Given the description of an element on the screen output the (x, y) to click on. 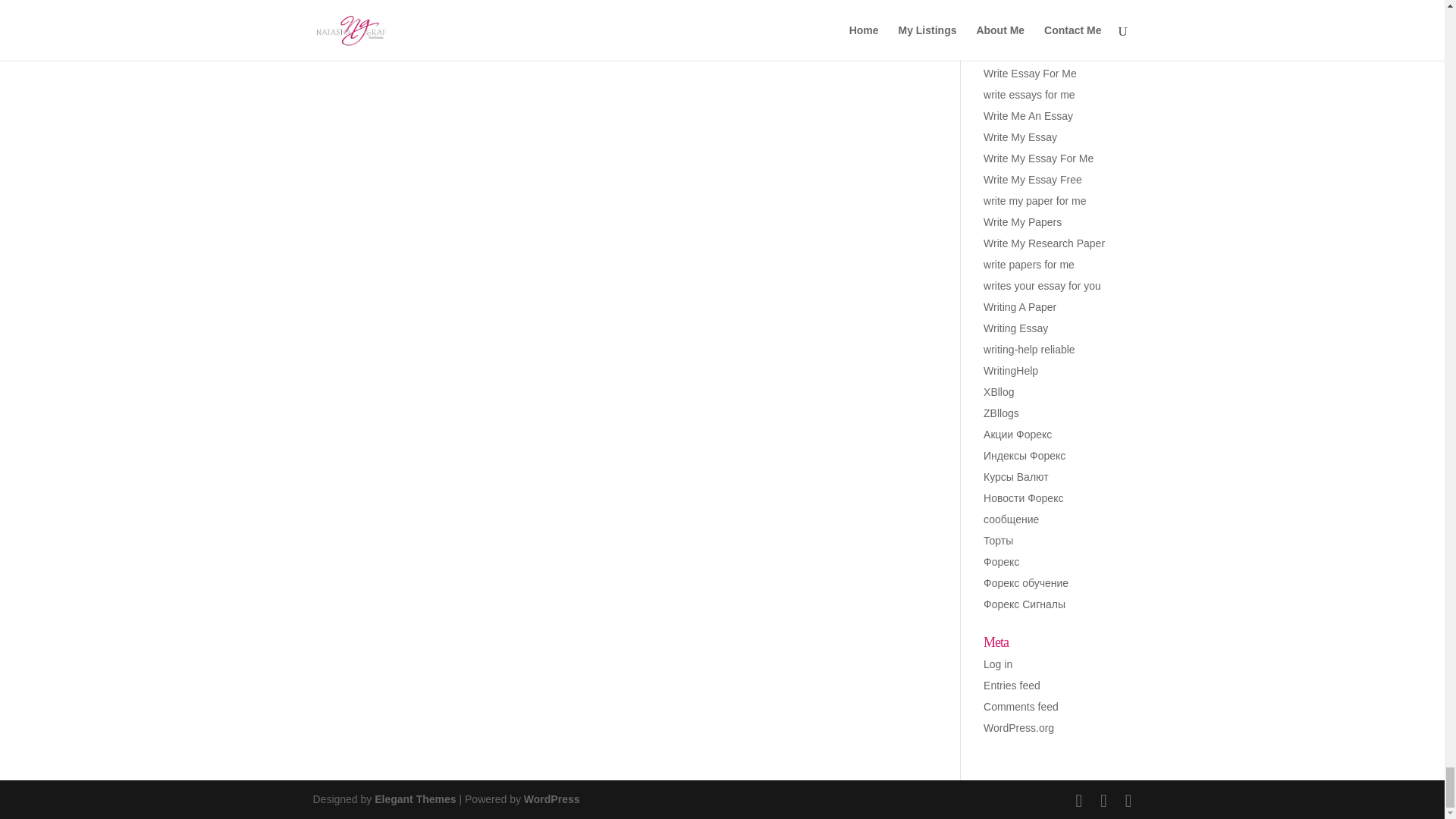
Premium WordPress Themes (414, 799)
